Given the description of an element on the screen output the (x, y) to click on. 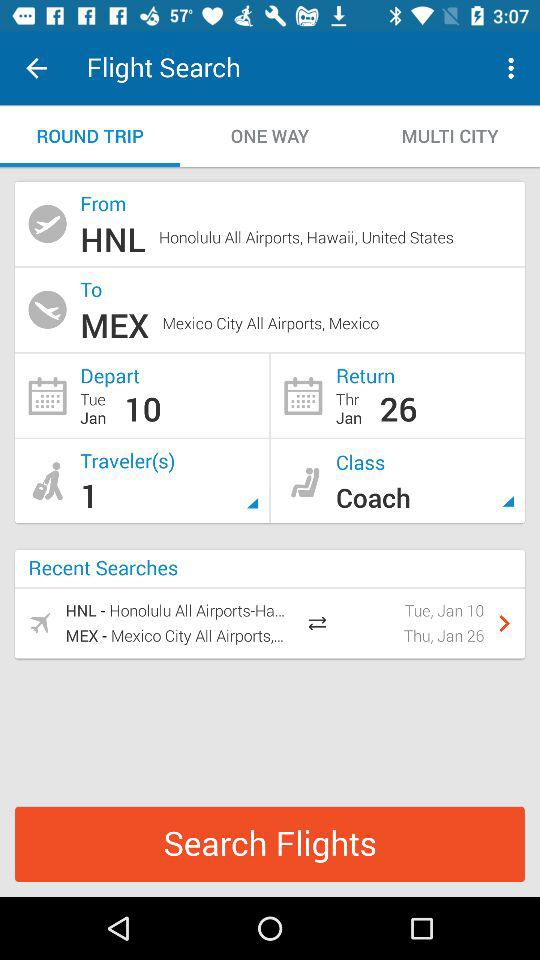
click the icon next to flight search (36, 68)
